Given the description of an element on the screen output the (x, y) to click on. 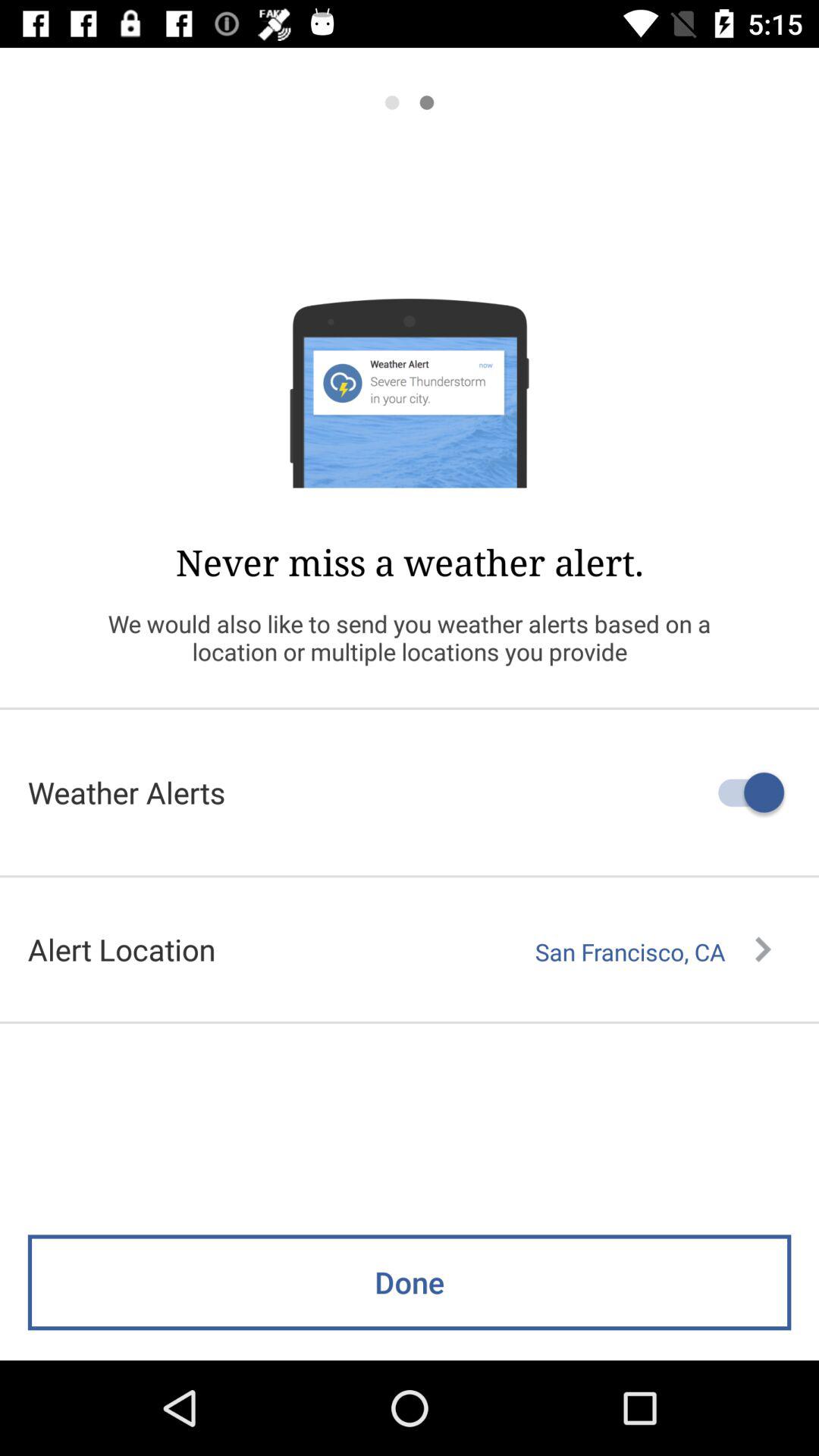
turn on the icon next to alert location (653, 951)
